Given the description of an element on the screen output the (x, y) to click on. 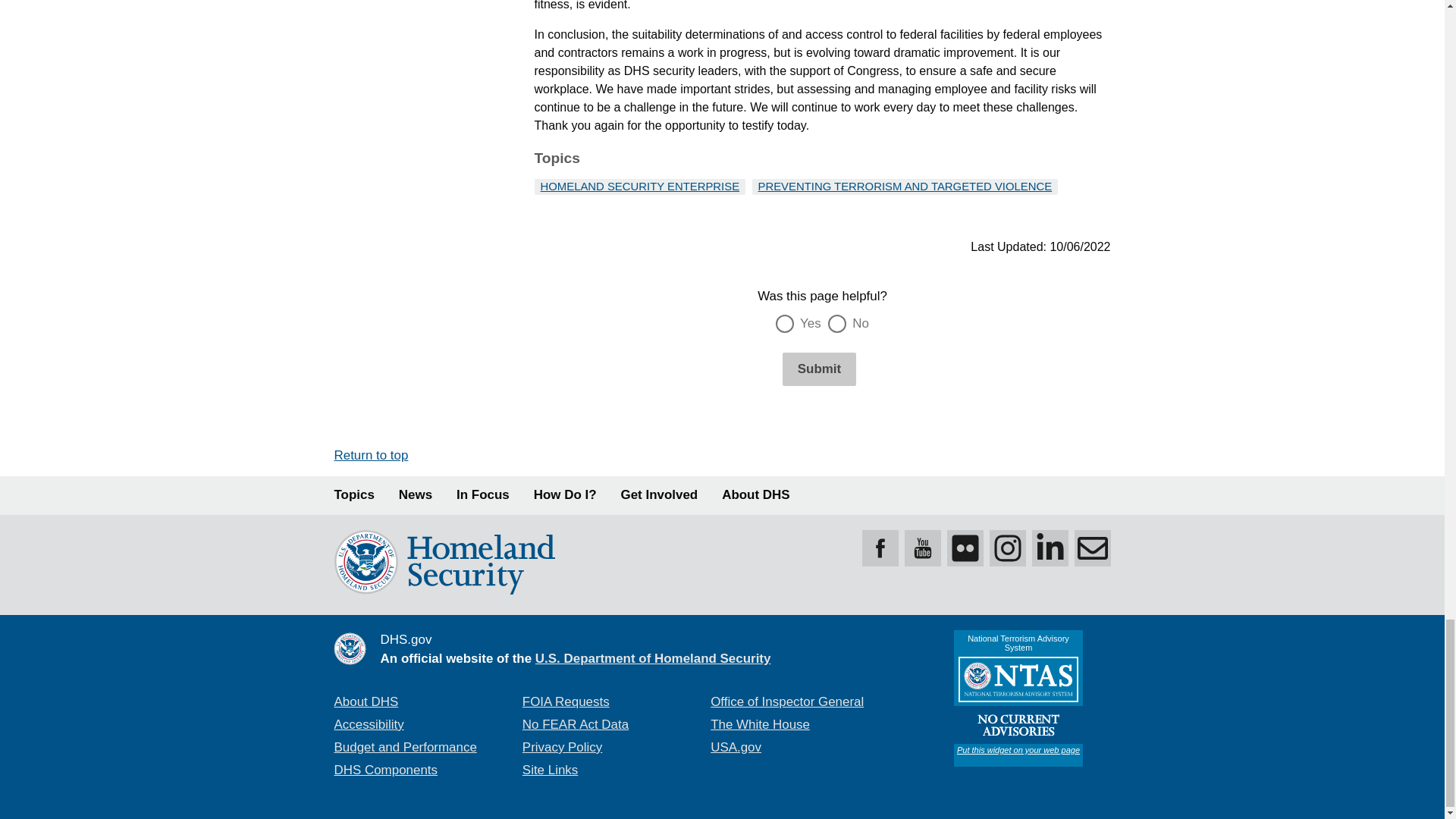
Submit (819, 368)
USA.gov (735, 747)
The White House (759, 724)
Topics (353, 495)
Submit (819, 368)
DHS Components (385, 769)
News (415, 495)
Office of the Inspector General (786, 701)
Get Involved (659, 495)
National Terrorism Advisory System (1018, 697)
